Given the description of an element on the screen output the (x, y) to click on. 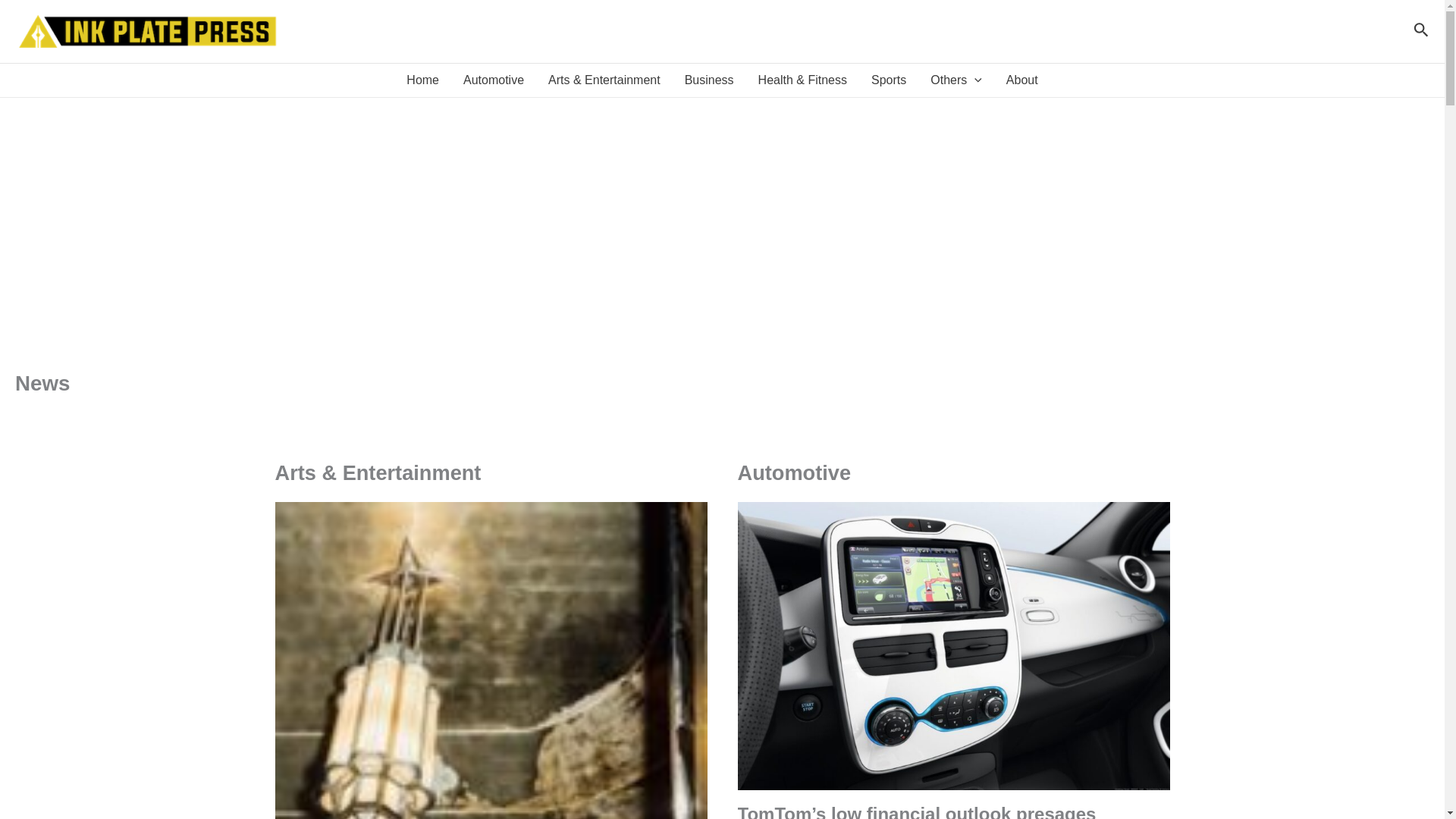
Business (708, 80)
Home (422, 80)
Sports (888, 80)
Automotive (493, 80)
About (1021, 80)
Others (956, 80)
